Given the description of an element on the screen output the (x, y) to click on. 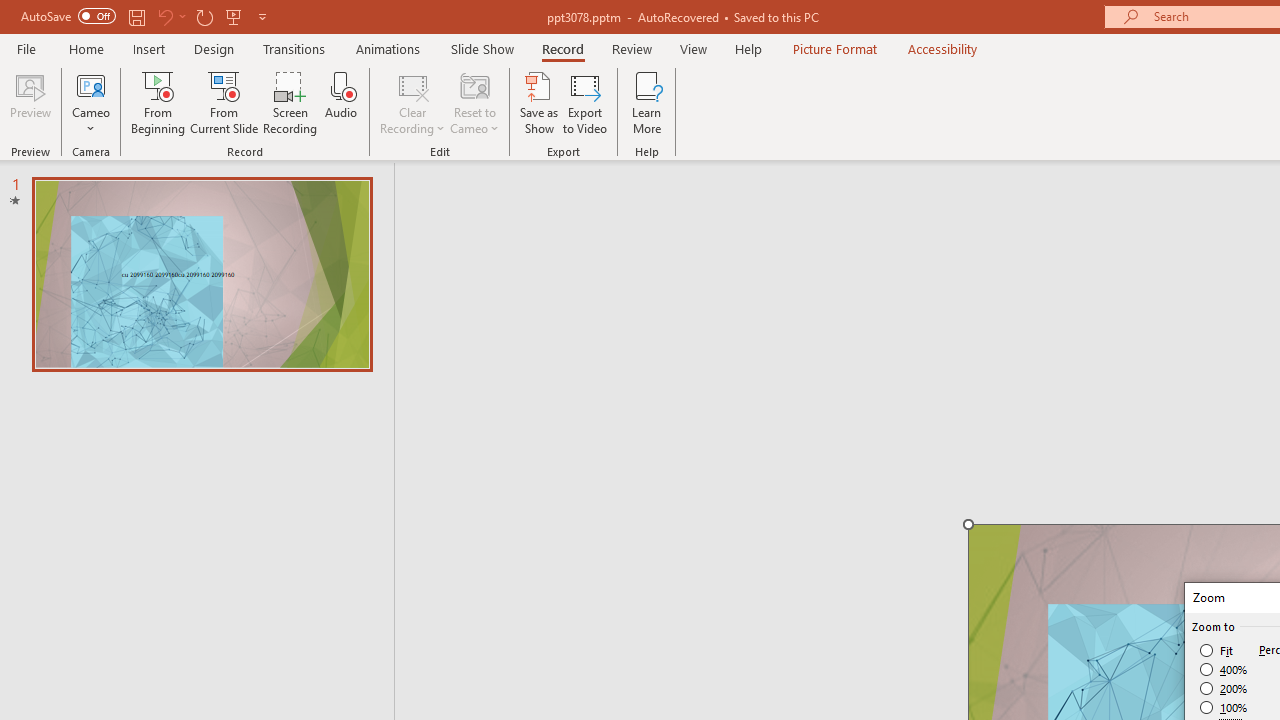
Fit (1217, 650)
Cameo (91, 102)
From Beginning... (158, 102)
Screen Recording (290, 102)
